Given the description of an element on the screen output the (x, y) to click on. 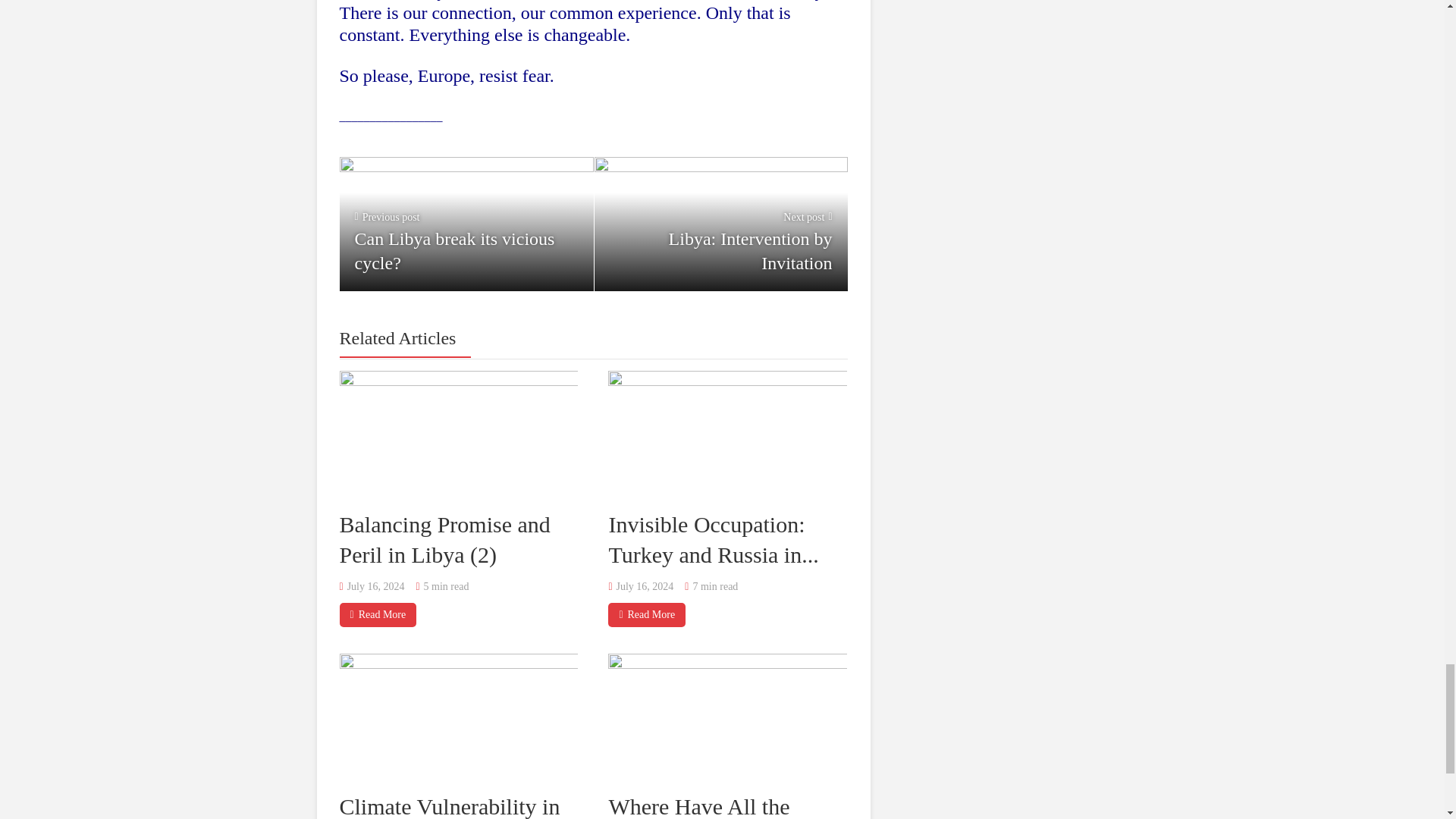
Read More (377, 613)
Invisible Occupation: Turkey and Russia in... (466, 224)
Read More (713, 538)
Climate Vulnerability in Libya: Building... (646, 613)
